Given the description of an element on the screen output the (x, y) to click on. 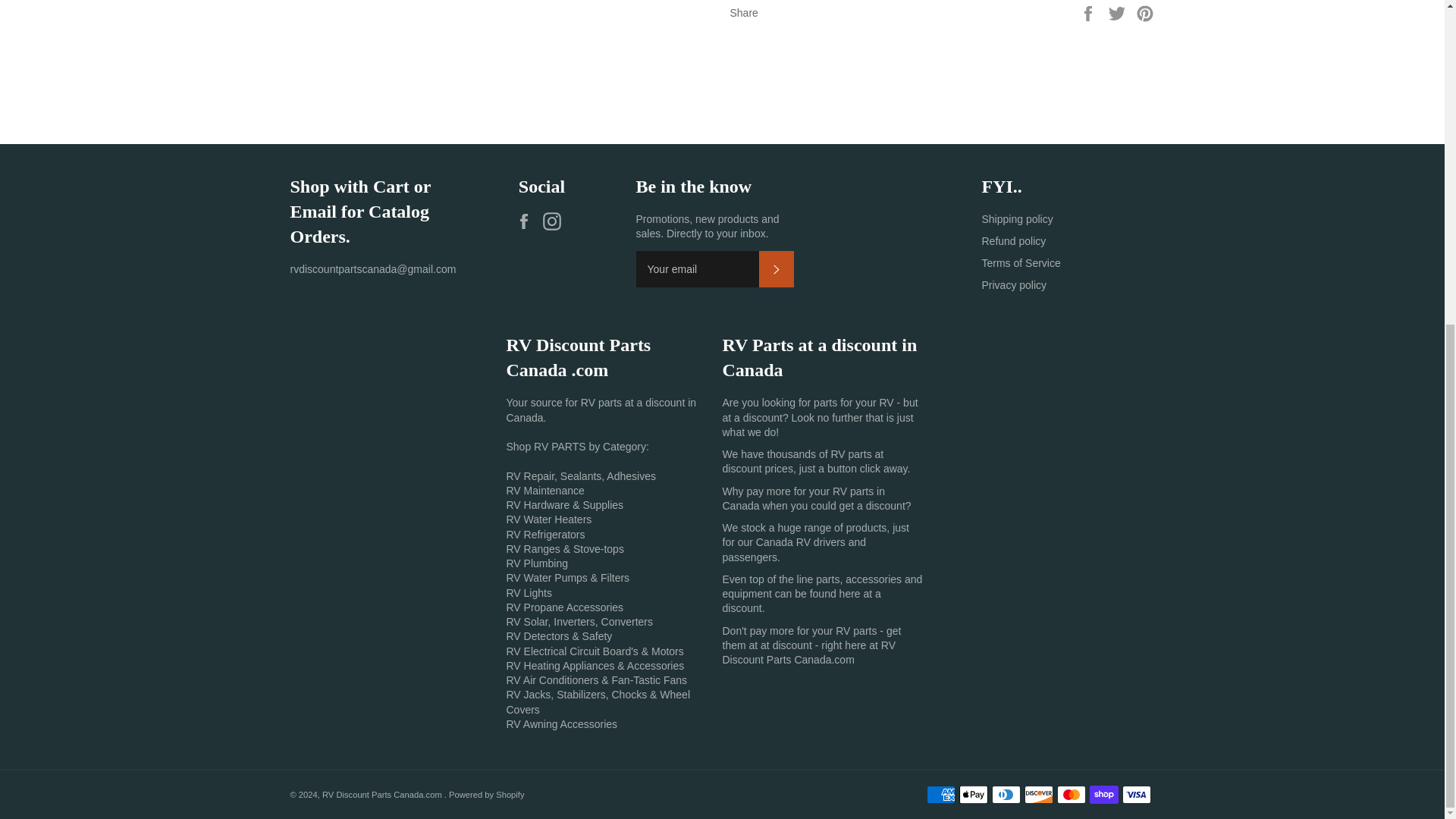
Tweet on Twitter (1118, 11)
All Collections (855, 630)
RV Discount Parts Canada.com         on Facebook (527, 221)
Pin on Pinterest (1144, 11)
All Collections (803, 498)
All Collections (852, 453)
Share on Facebook (1089, 11)
RV Discount Parts Canada.com         on Instagram (556, 221)
